Given the description of an element on the screen output the (x, y) to click on. 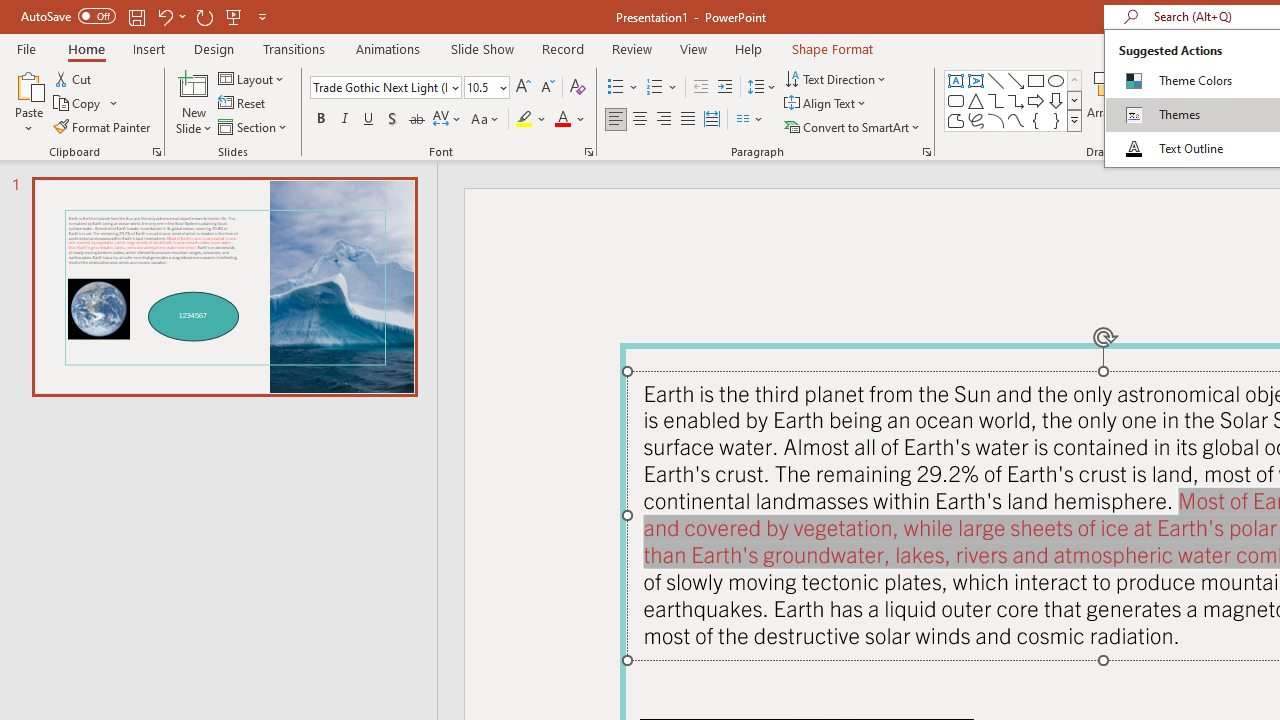
Shape Outline Teal, Accent 1 (1188, 101)
Decrease Indent (700, 87)
Increase Indent (725, 87)
Decrease Font Size (547, 87)
Font... (588, 151)
Layout (252, 78)
